Given the description of an element on the screen output the (x, y) to click on. 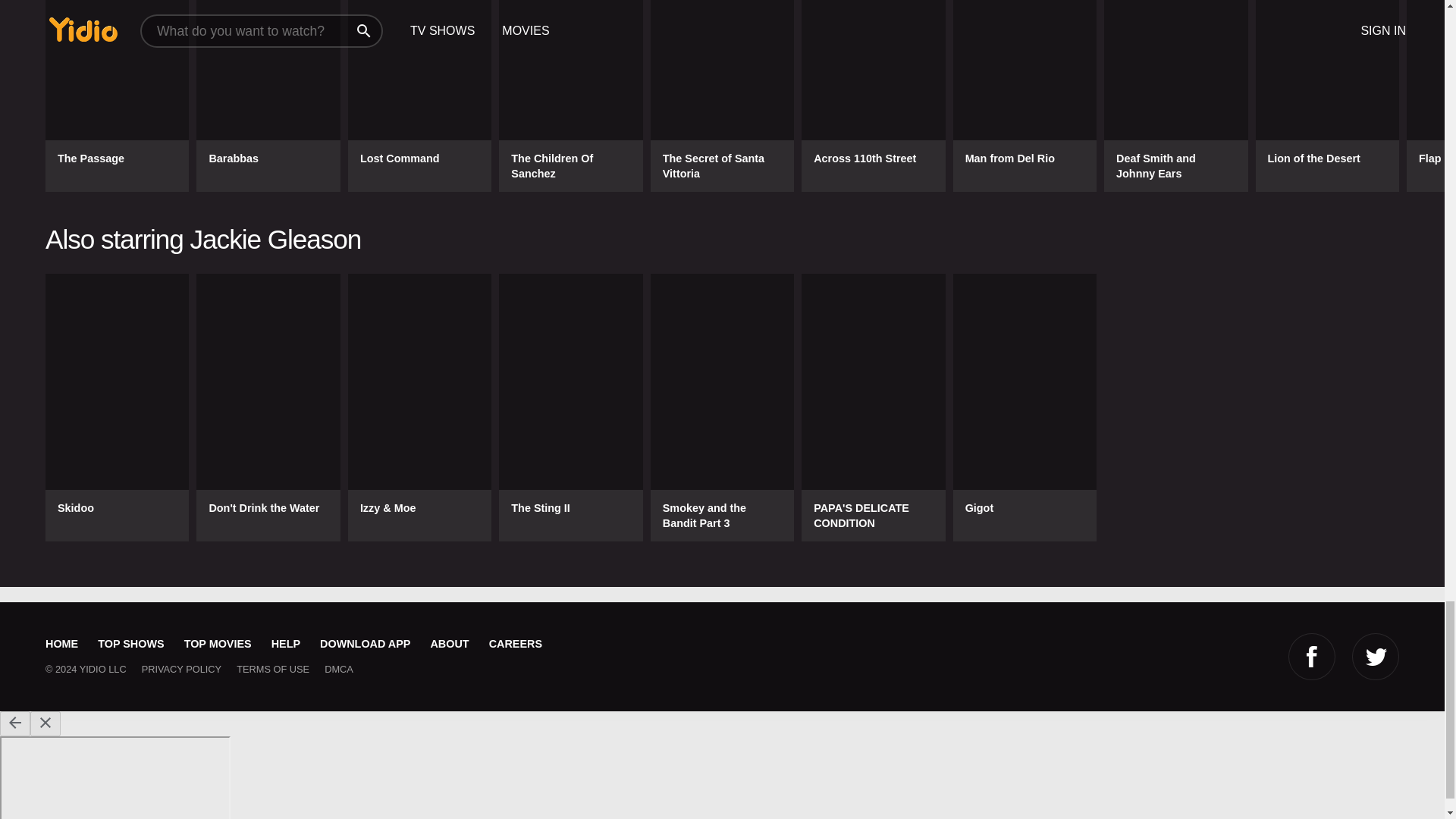
Facebook (1311, 656)
Twitter (1375, 656)
